Given the description of an element on the screen output the (x, y) to click on. 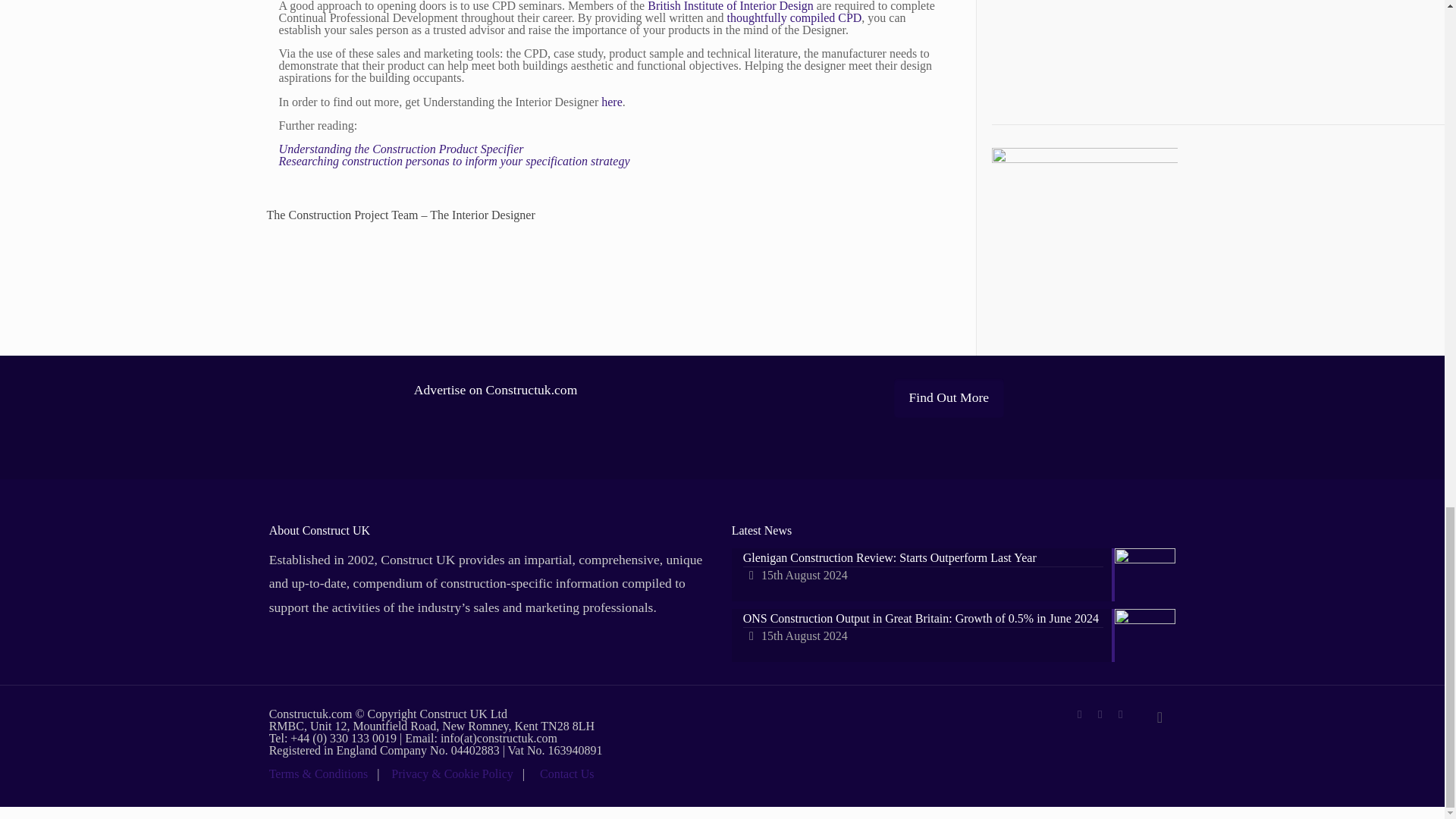
Twitter (1100, 714)
LinkedIn (1120, 714)
Skype (1079, 714)
